Given the description of an element on the screen output the (x, y) to click on. 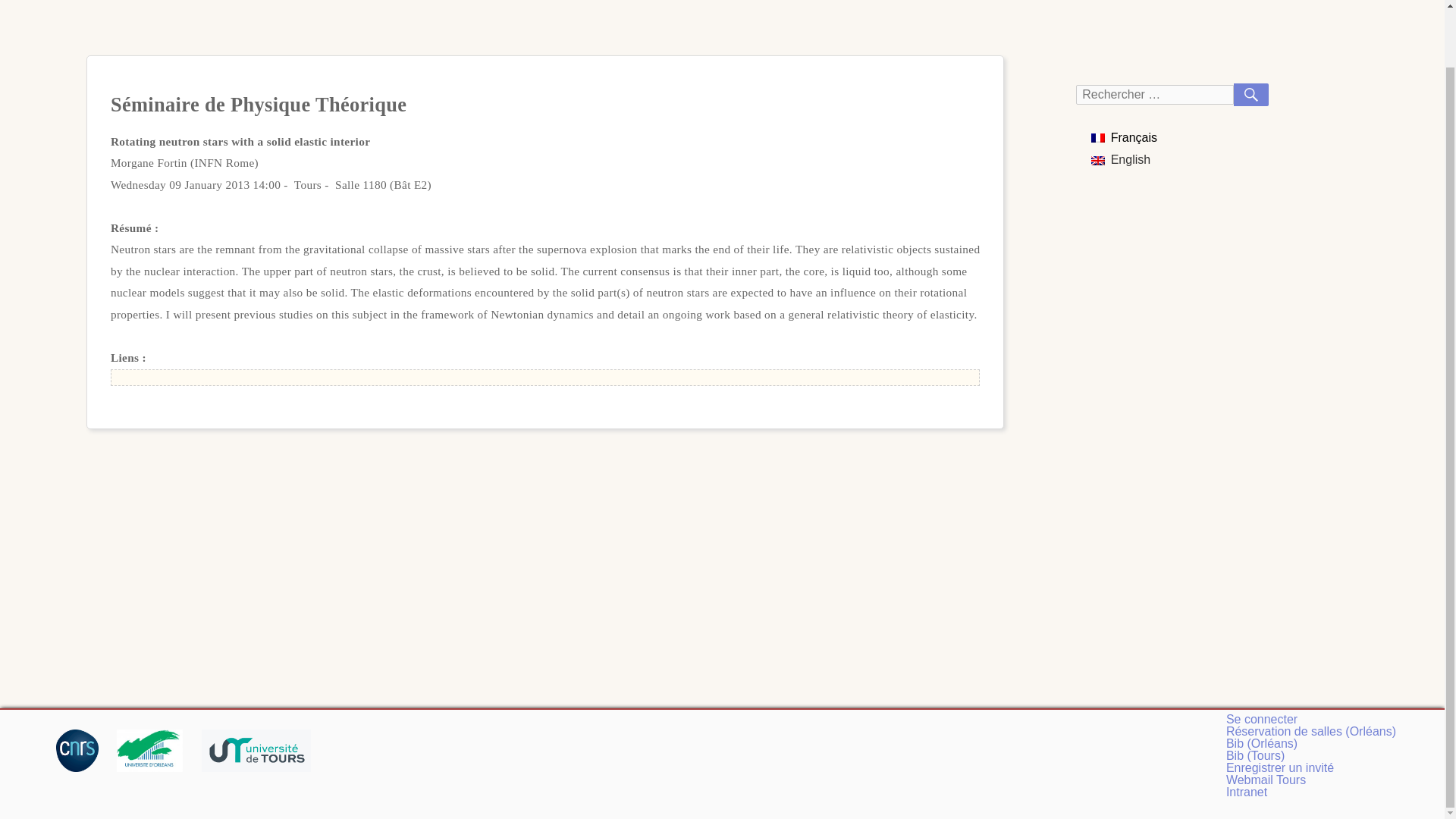
English (1120, 159)
Webmail Tours (1265, 779)
RECHERCHER (1250, 94)
Se connecter (1261, 718)
Intranet (1245, 791)
